Given the description of an element on the screen output the (x, y) to click on. 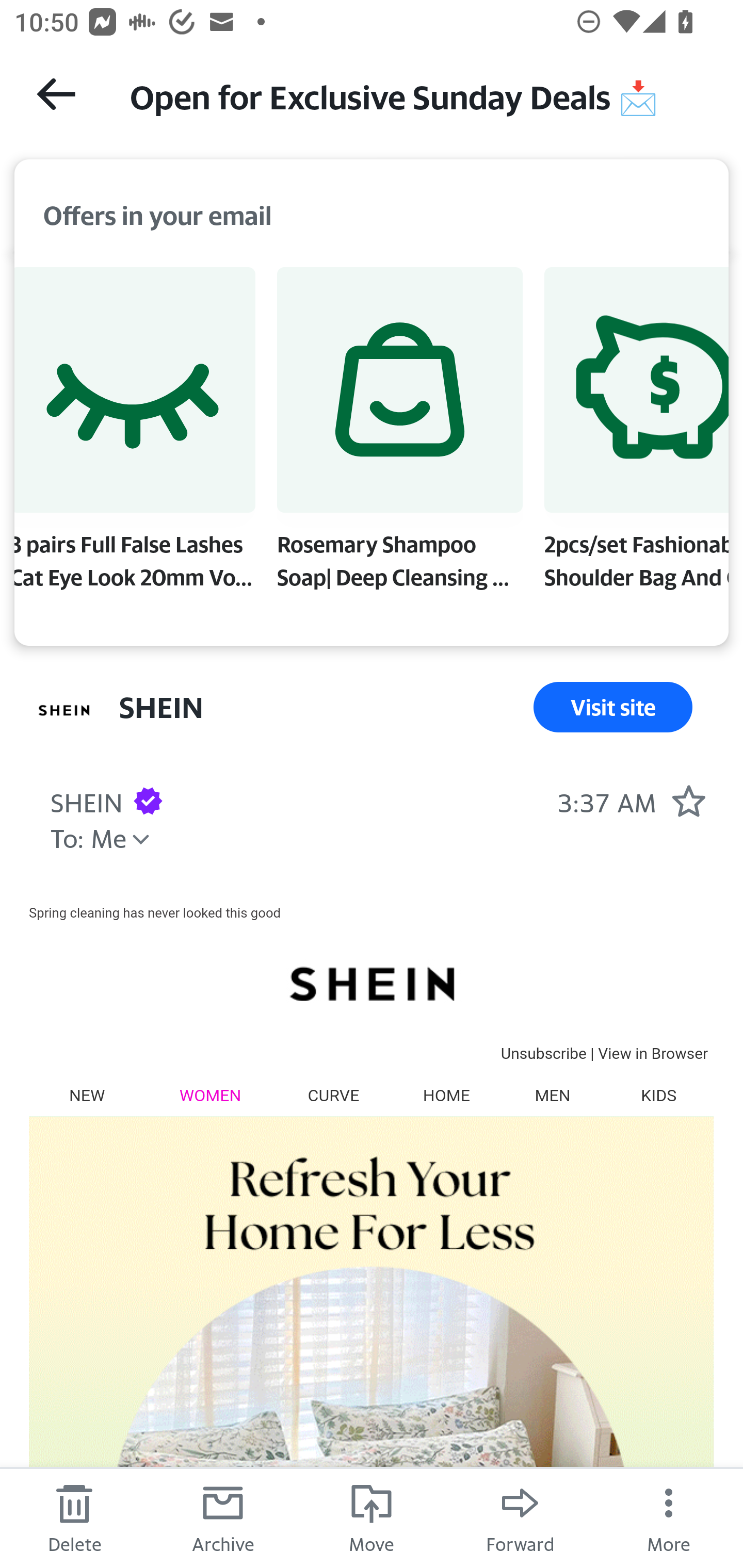
Back (55, 93)
Open for Exclusive Sunday Deals 📩 (418, 94)
View all messages from sender (64, 711)
Visit site Visit Site Link (612, 707)
SHEIN Sender SHEIN (160, 706)
SHEIN Sender SHEIN (86, 800)
Mark as starred. (688, 800)
Spring cleaning has never looked this good (154, 912)
SHEIN (370, 982)
Unsubscribe (543, 1052)
View in Browser (652, 1052)
NEW (86, 1095)
WOMEN (210, 1095)
CURVE (333, 1095)
HOME (445, 1095)
MEN (552, 1095)
KIDS (658, 1095)
REFRESH YOUR HOME FOR LESS (370, 1342)
Delete (74, 1517)
Archive (222, 1517)
Move (371, 1517)
Forward (519, 1517)
More (668, 1517)
